Given the description of an element on the screen output the (x, y) to click on. 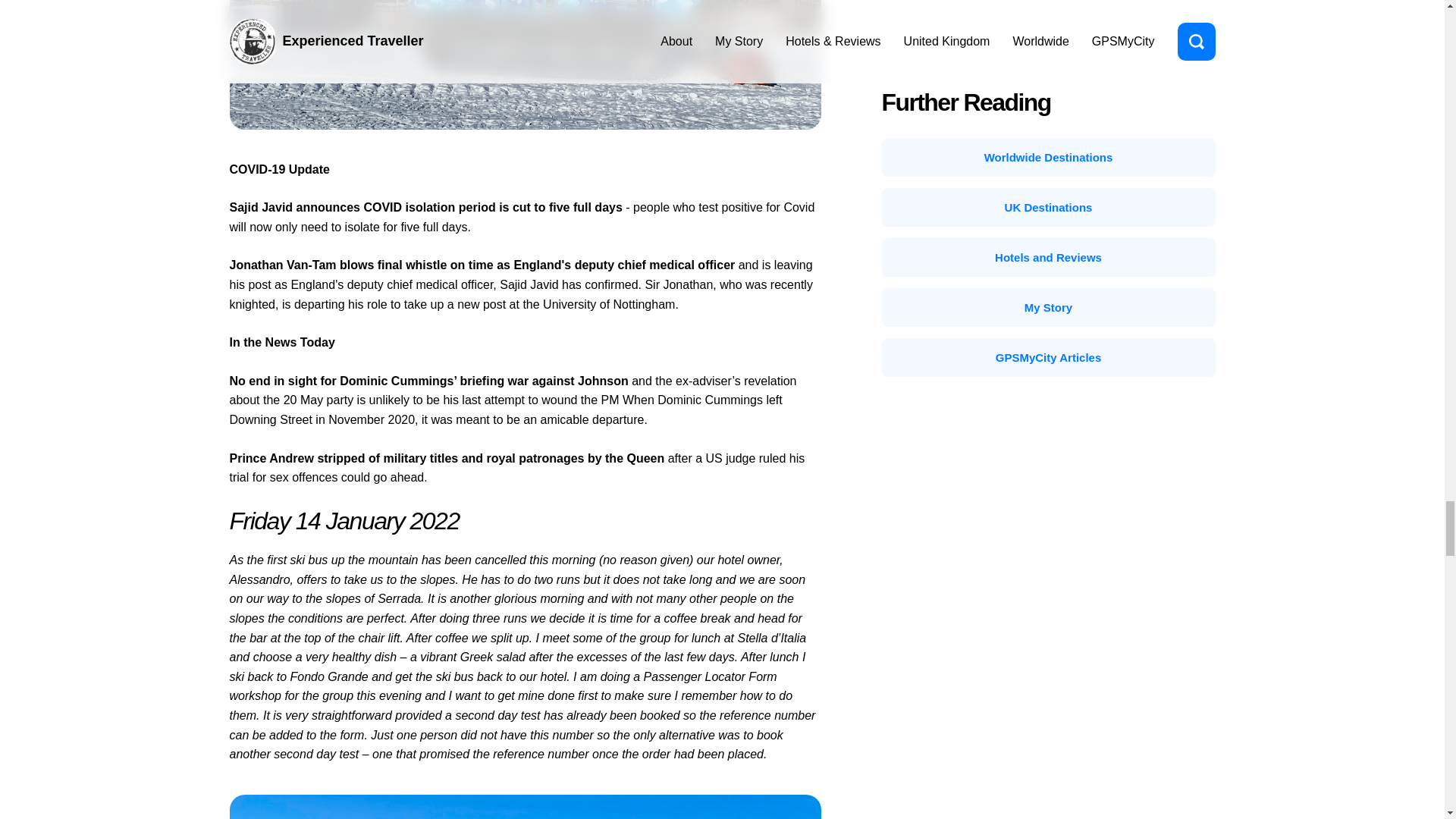
The Ski Area in Folgaria, Italian Dolomites (524, 806)
Passenger Carrying Snow Cat on the slopes of Folgaria, Italy (524, 64)
